Given the description of an element on the screen output the (x, y) to click on. 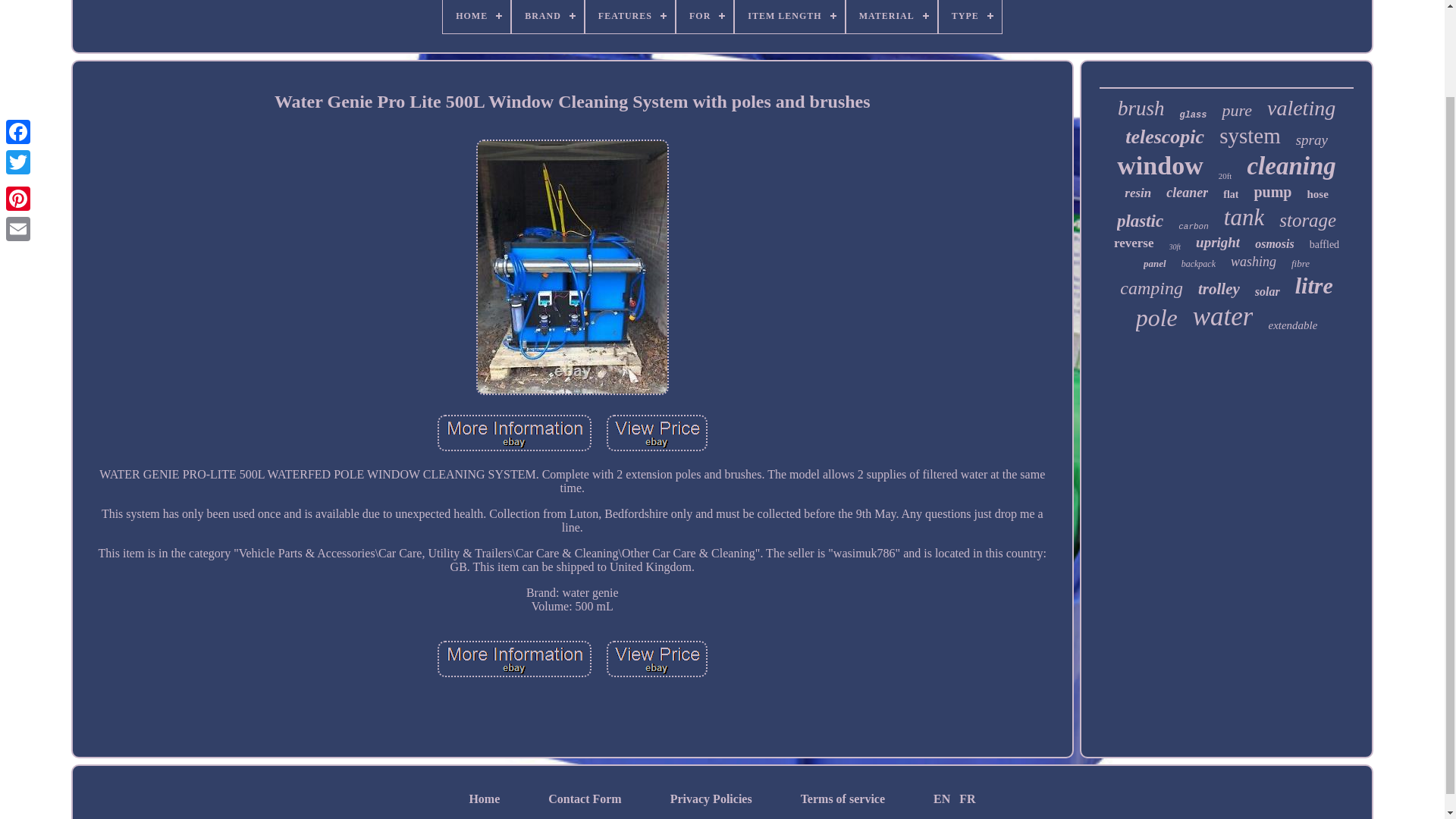
HOME (476, 16)
FEATURES (630, 16)
BRAND (547, 16)
